Given the description of an element on the screen output the (x, y) to click on. 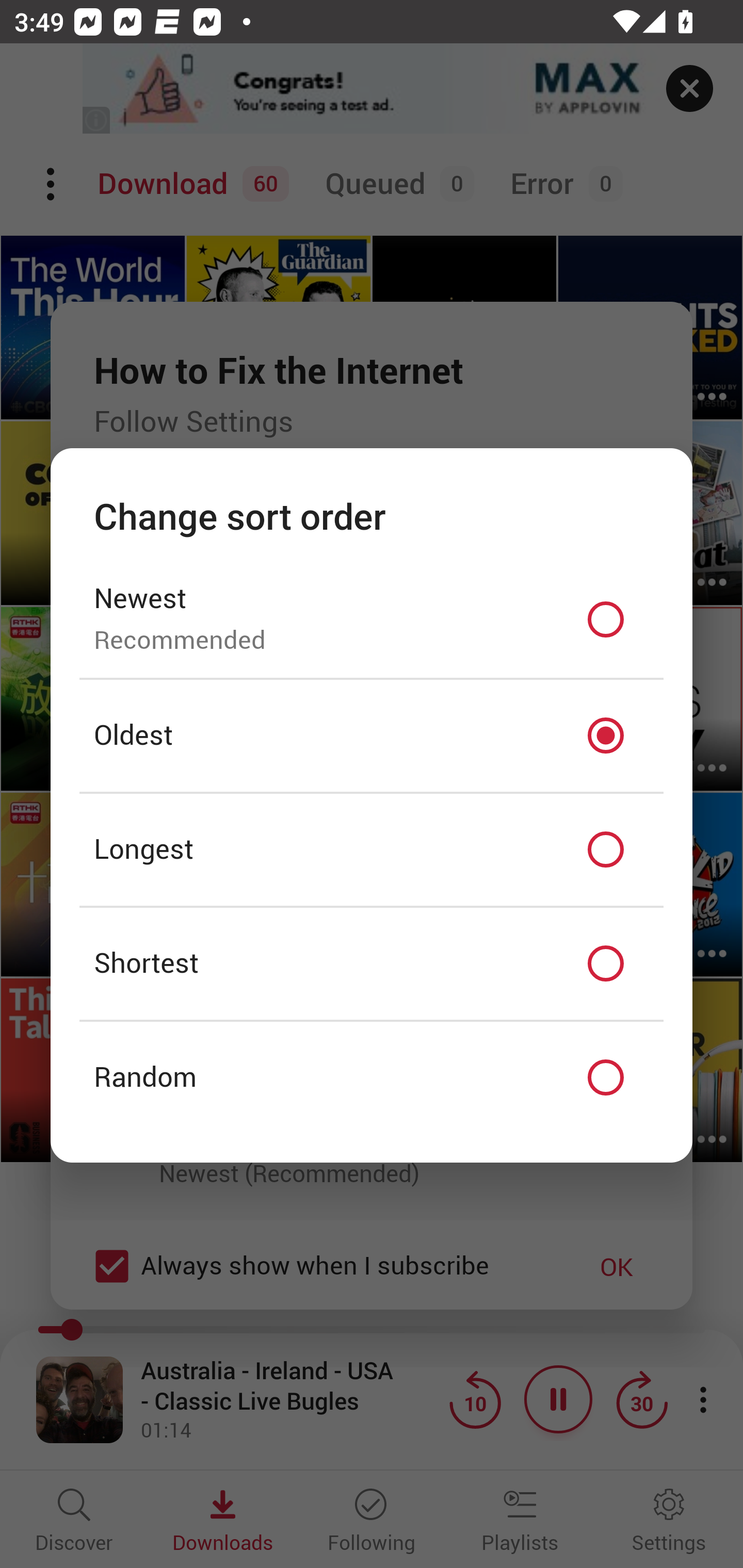
Newest Recommended (371, 619)
Oldest (371, 735)
Longest (371, 849)
Shortest (371, 963)
Random (371, 1077)
